Given the description of an element on the screen output the (x, y) to click on. 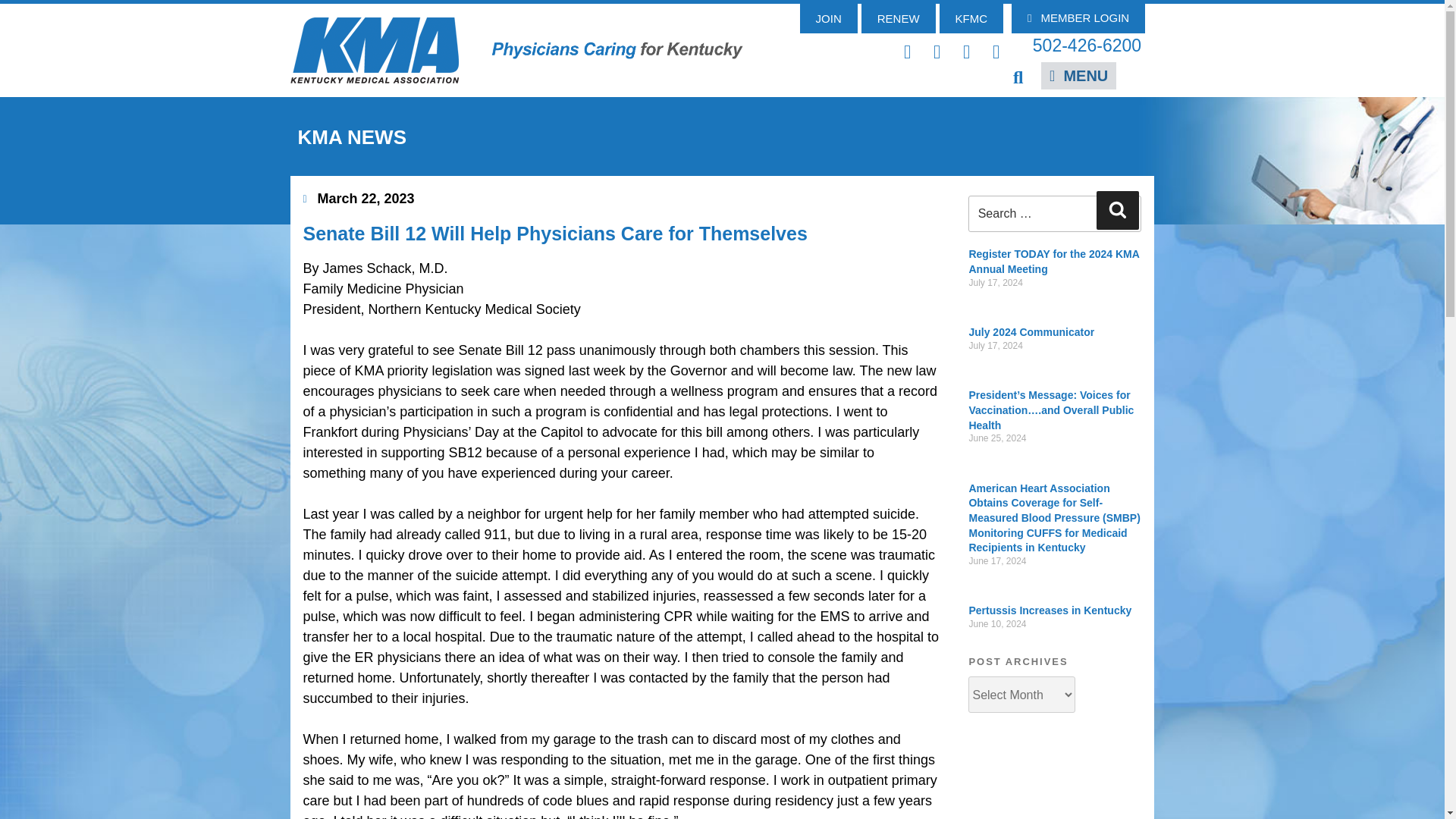
March 22, 2023 (358, 199)
RENEW (898, 18)
Pertussis Increases in Kentucky (1049, 610)
July 2024 Communicator (1031, 331)
JOIN (828, 18)
MEMBER LOGIN (1077, 18)
MENU (1078, 75)
Register TODAY for the 2024 KMA Annual Meeting (1053, 261)
502-426-6200 (1086, 45)
KFMC (971, 18)
